Given the description of an element on the screen output the (x, y) to click on. 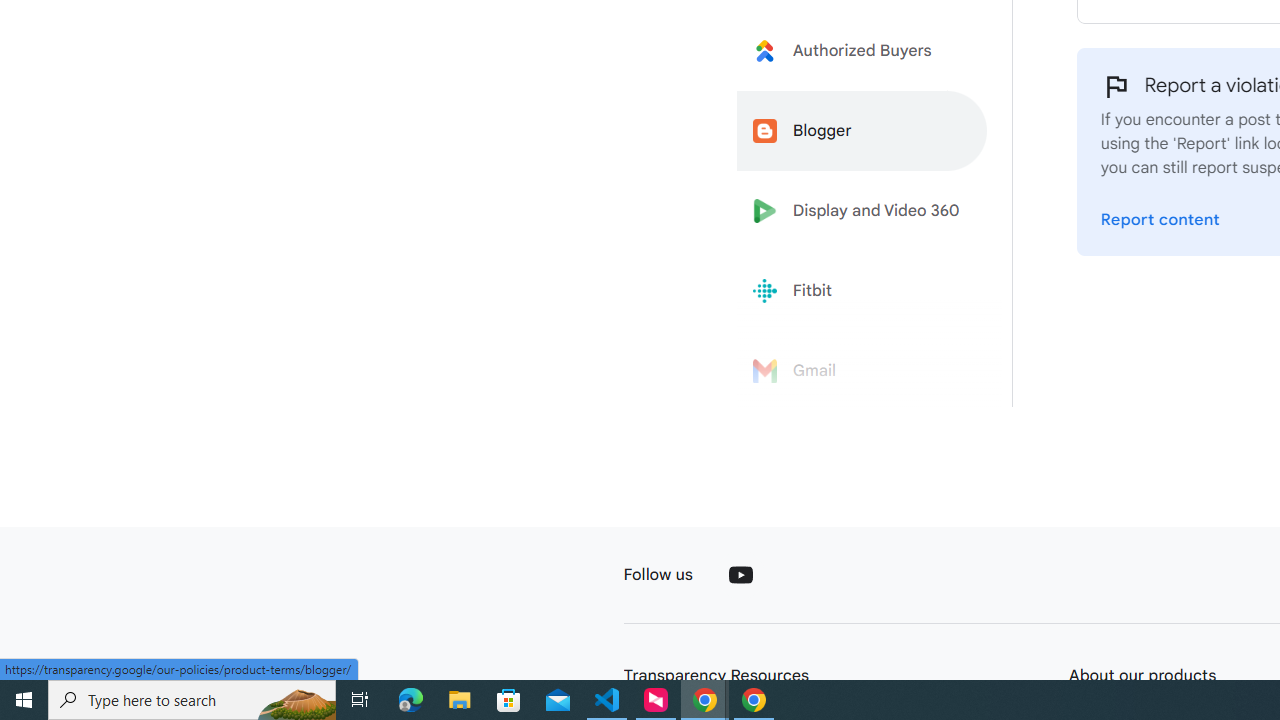
Blogger (862, 130)
Display and Video 360 (862, 211)
Display and Video 360 (862, 211)
YouTube (740, 574)
Blogger (862, 130)
Gmail (862, 371)
Fitbit (862, 291)
Learn more about Authorized Buyers (862, 50)
Fitbit (862, 291)
Gmail (862, 371)
Learn more about Authorized Buyers (862, 50)
Report a violation on the Blogger Report page (1159, 219)
